Given the description of an element on the screen output the (x, y) to click on. 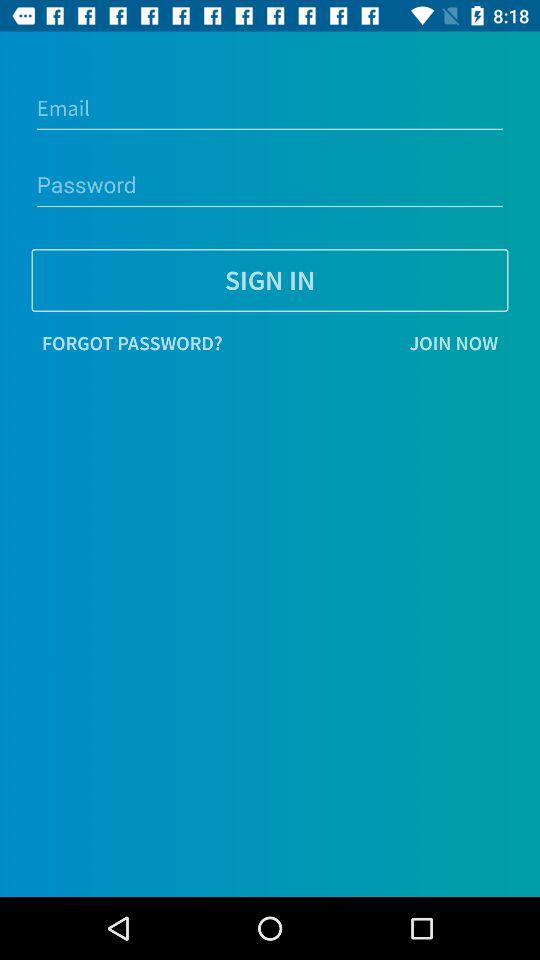
open forgot password? item (132, 343)
